Given the description of an element on the screen output the (x, y) to click on. 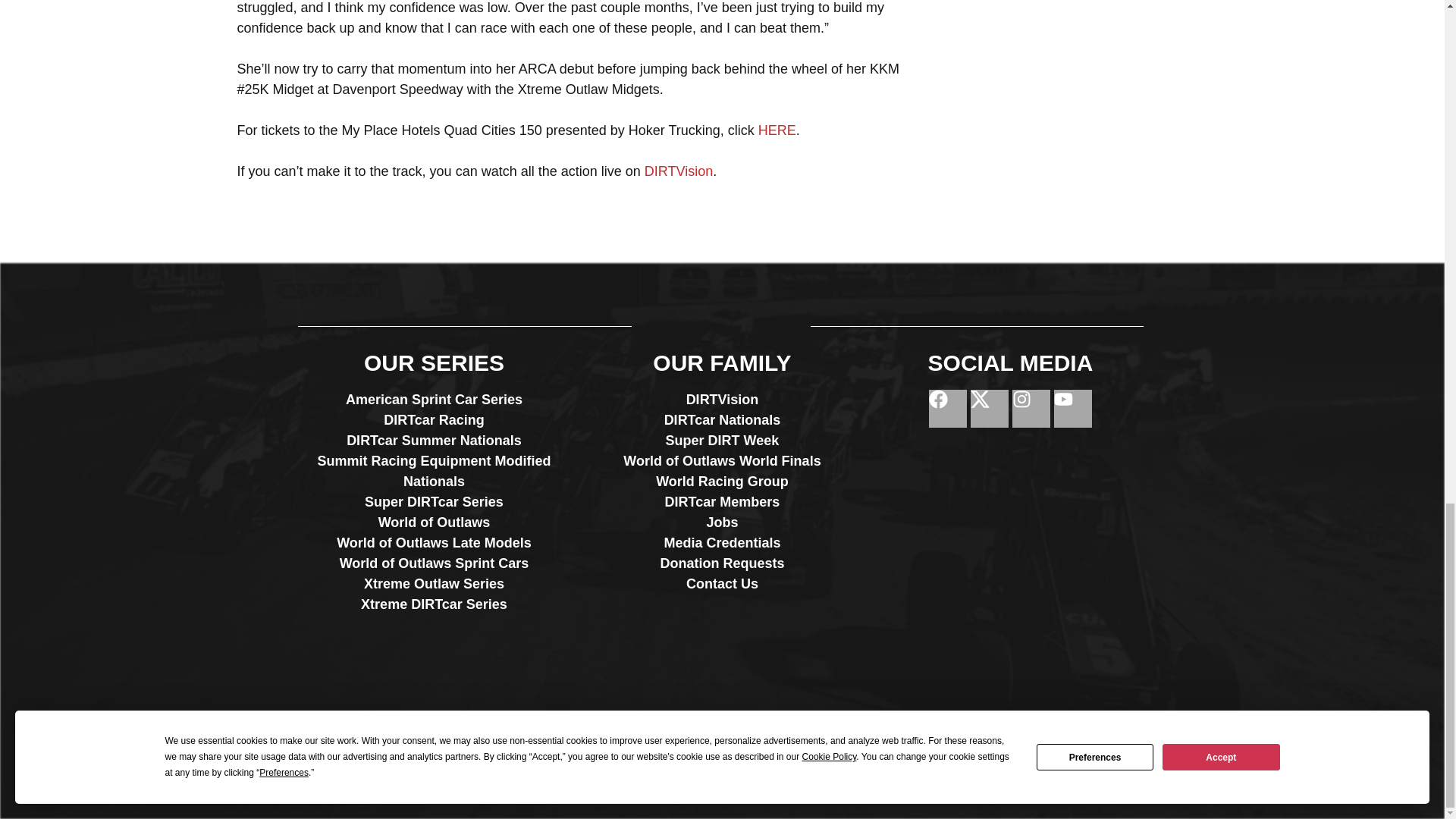
DIRTVision (679, 171)
HERE (777, 130)
